Given the description of an element on the screen output the (x, y) to click on. 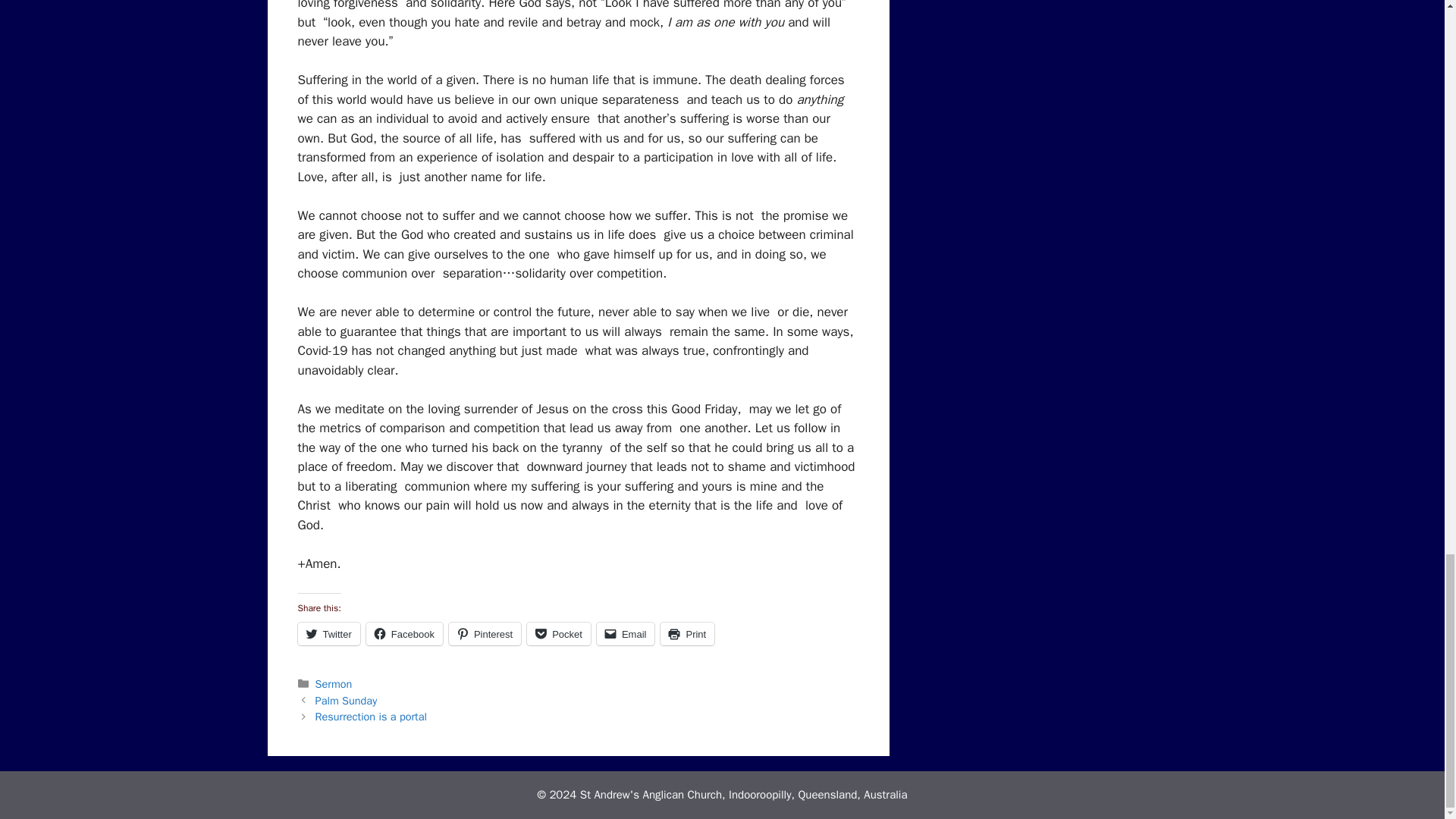
Click to share on Facebook (404, 633)
Click to share on Pinterest (484, 633)
Click to email a link to a friend (625, 633)
Click to share on Twitter (328, 633)
Click to share on Pocket (559, 633)
Click to print (687, 633)
